Given the description of an element on the screen output the (x, y) to click on. 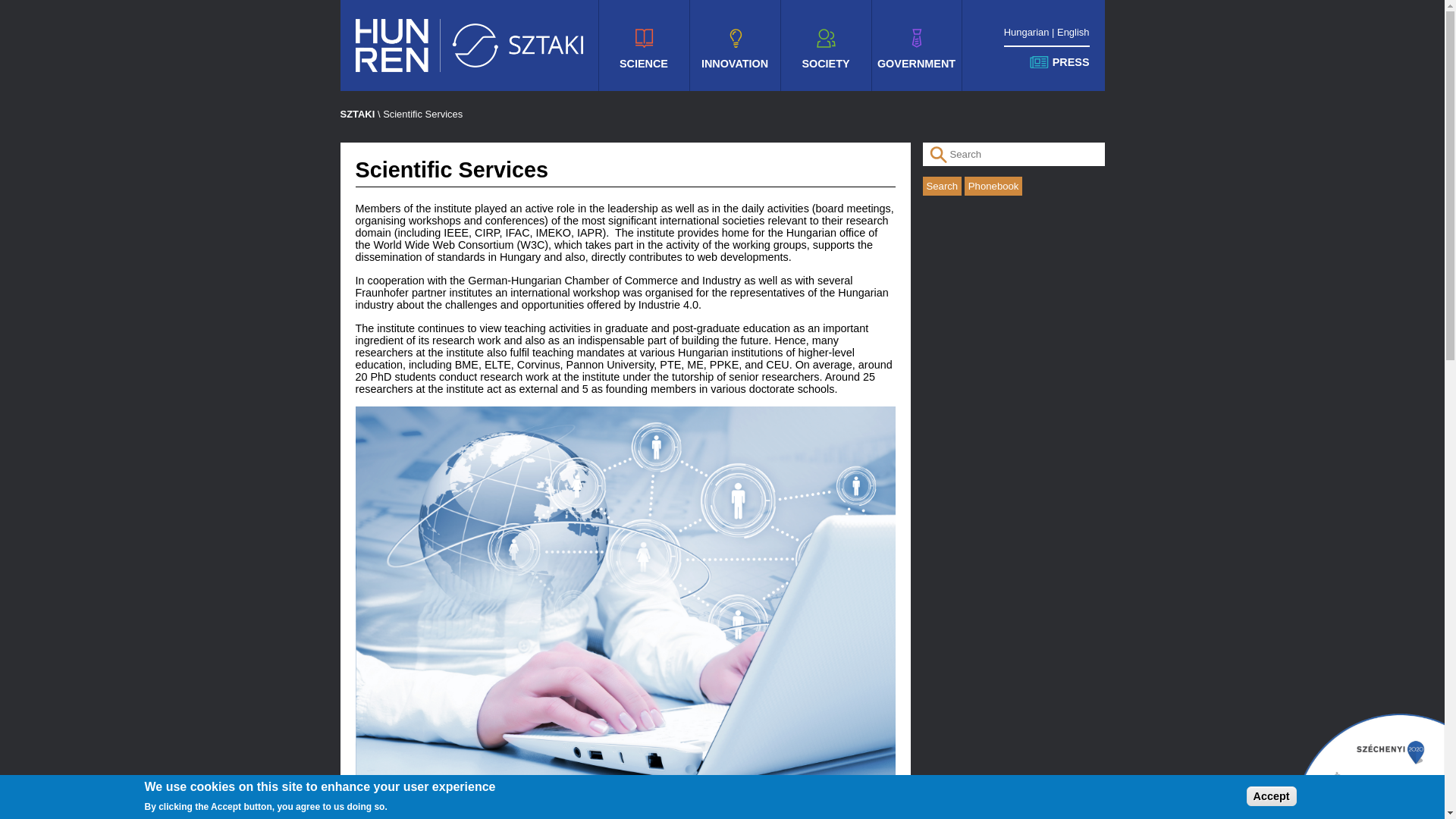
Home (468, 45)
Search (940, 185)
Search (940, 185)
INNOVATION (733, 45)
Phonebook (993, 185)
SCIENCE (642, 45)
SOCIETY (824, 45)
Phonebook (993, 185)
